Given the description of an element on the screen output the (x, y) to click on. 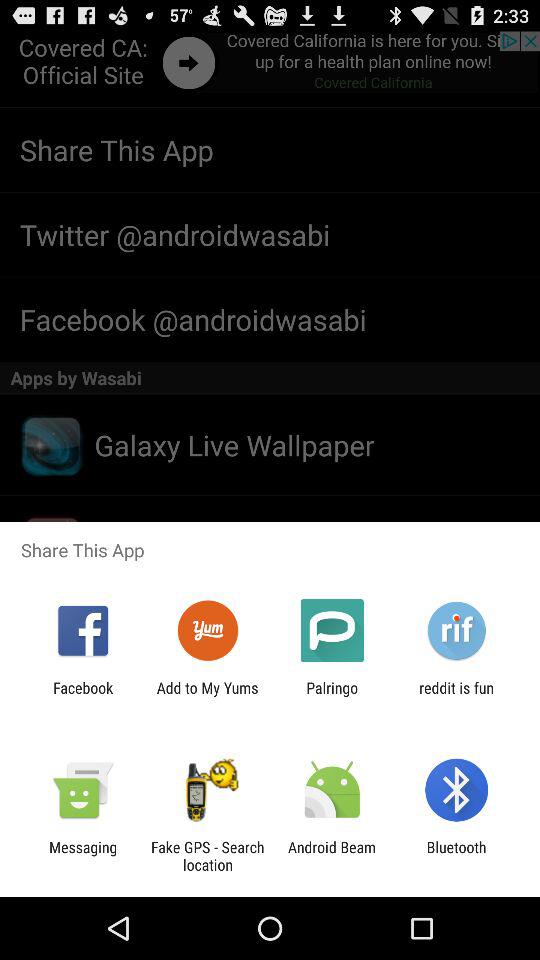
press the item next to the android beam item (207, 856)
